Given the description of an element on the screen output the (x, y) to click on. 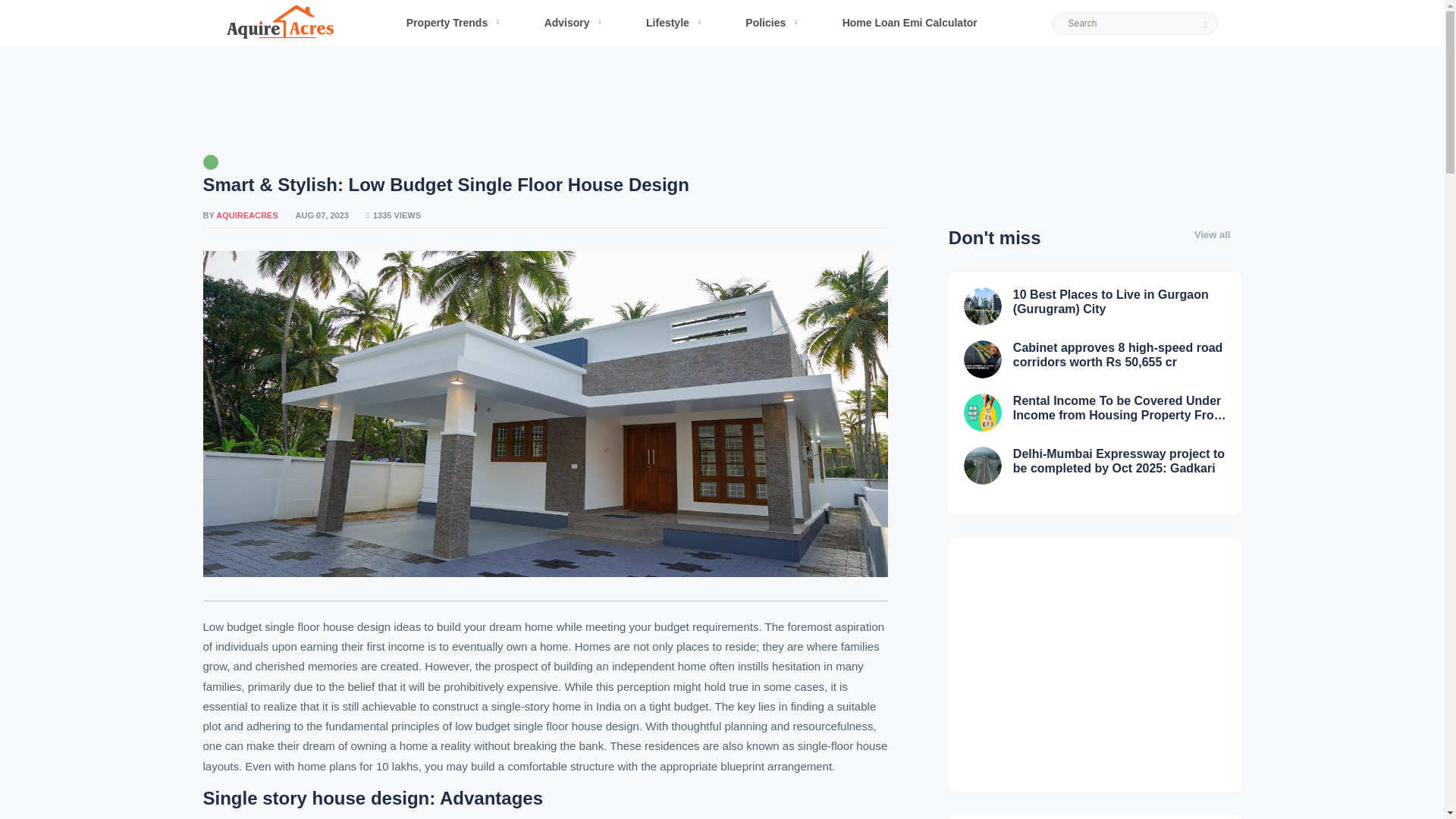
Property Trends (446, 22)
